Given the description of an element on the screen output the (x, y) to click on. 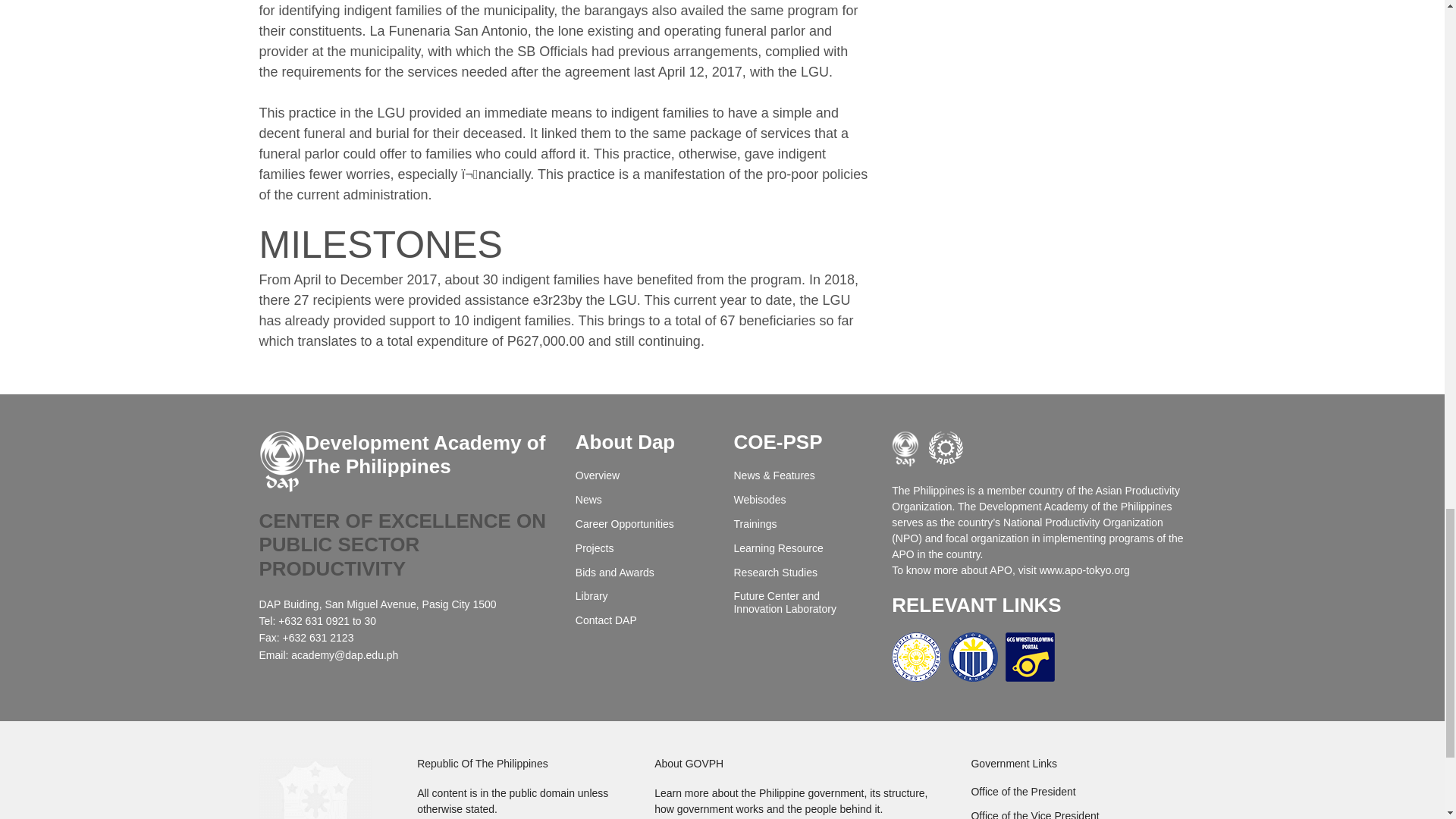
News (643, 499)
Career Opportunities (643, 523)
Overview (643, 475)
